Given the description of an element on the screen output the (x, y) to click on. 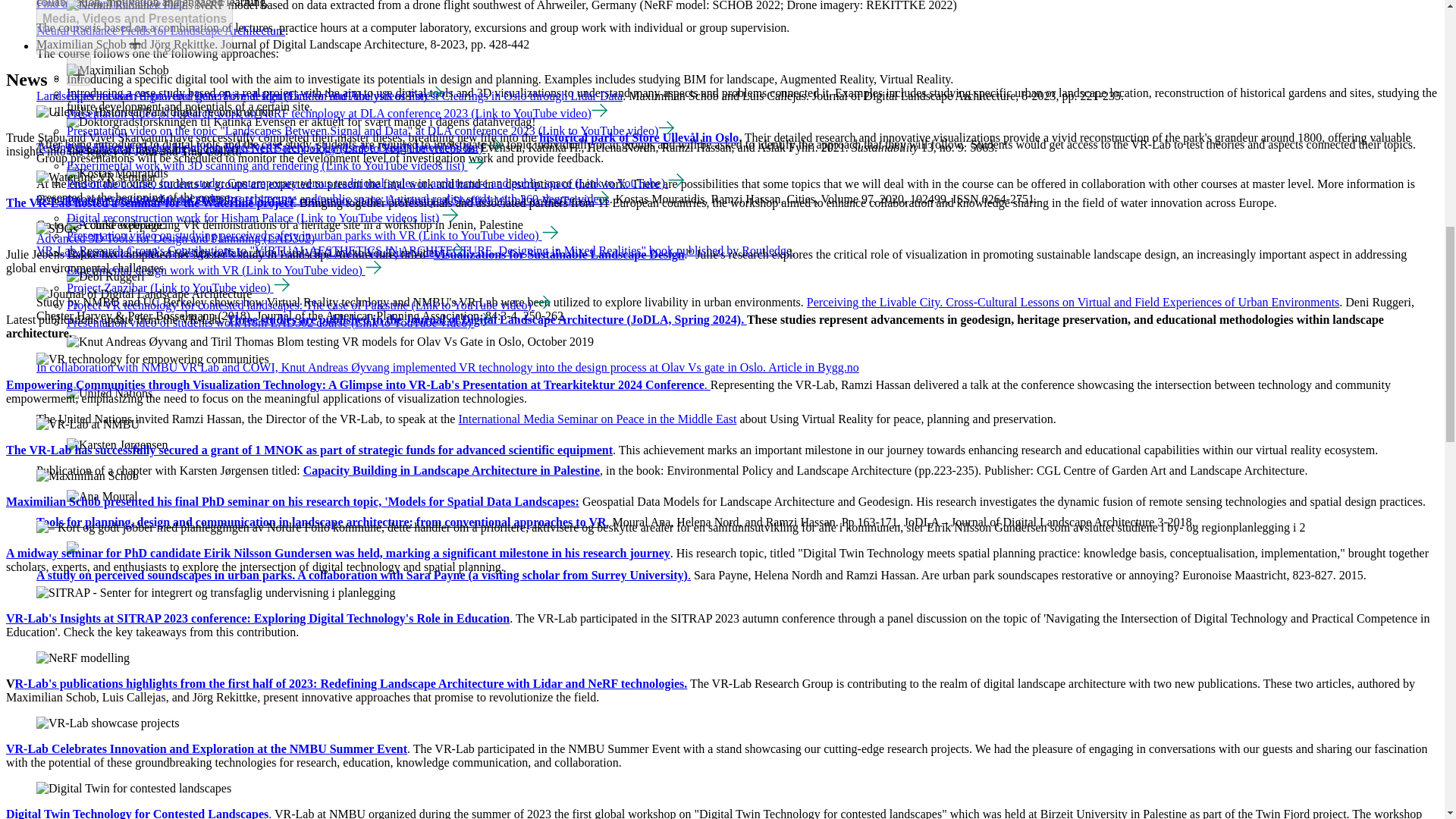
Find us on our interactive map (110, 4)
Neural Radiance Fields for Landscape Architecture (160, 30)
 Media, Videos and Presentations  (134, 18)
